Given the description of an element on the screen output the (x, y) to click on. 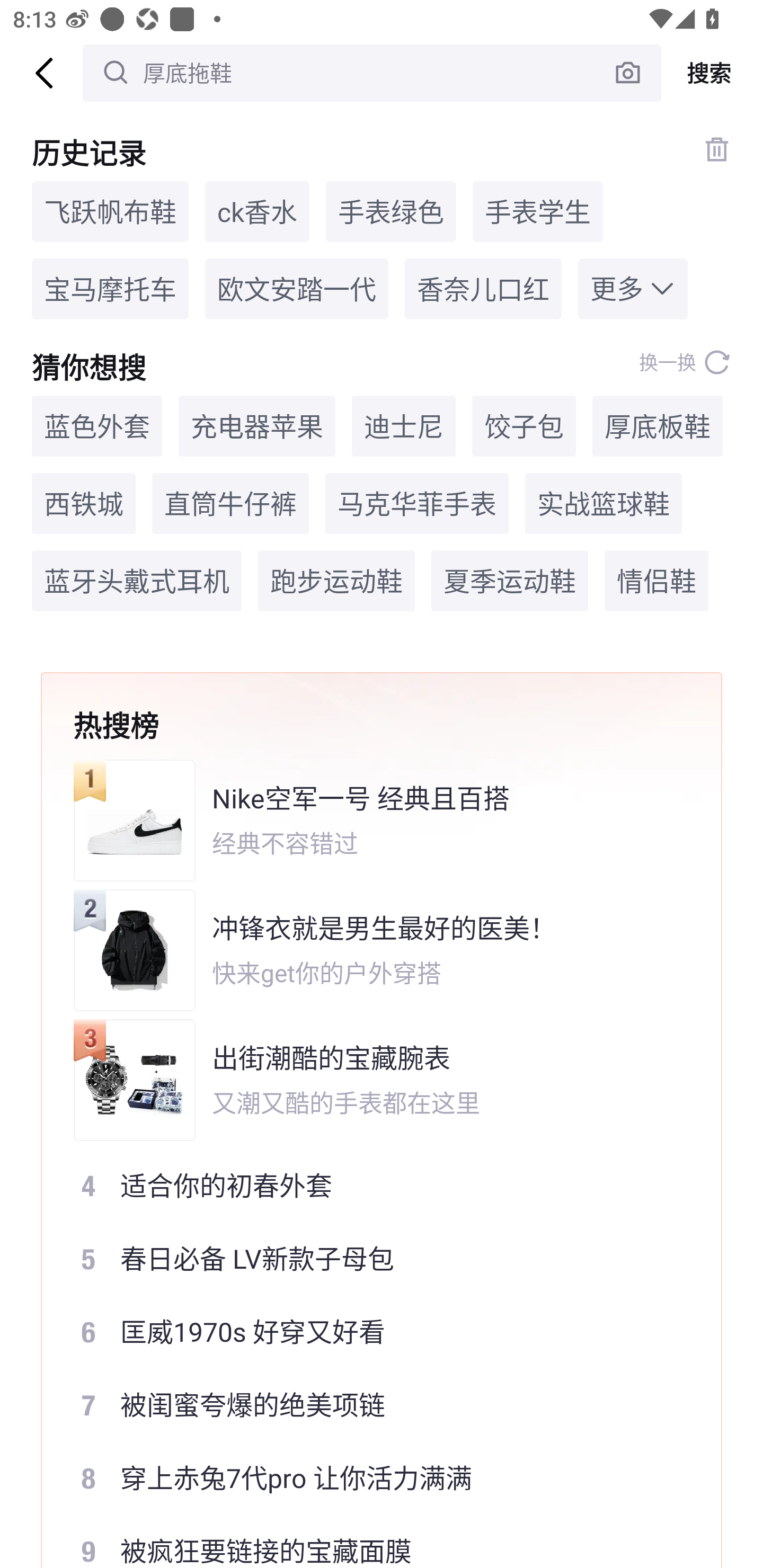
搜索 (712, 72)
厚底拖鞋 (371, 72)
飞跃帆布鞋 (110, 211)
ck香水 (257, 211)
手表绿色 (390, 211)
手表学生 (537, 211)
宝马摩托车 (110, 288)
欧文安踏一代 (296, 288)
香奈儿口红 (483, 288)
更多  (632, 288)
换一换 (684, 362)
蓝色外套 (96, 425)
充电器苹果 (256, 425)
迪士尼 (403, 425)
饺子包 (524, 425)
厚底板鞋 (657, 425)
西铁城 (83, 503)
直筒牛仔裤 (230, 503)
马克华菲手表 (416, 503)
实战篮球鞋 (603, 503)
蓝牙头戴式耳机 (136, 580)
跑步运动鞋 (336, 580)
夏季运动鞋 (509, 580)
情侣鞋 (656, 580)
Nike空军一号 经典且百搭 经典不容错过 (369, 819)
冲锋衣就是男生最好的医美！ 快来get你的户外穿搭 (369, 950)
出街潮酷的宝藏腕表 又潮又酷的手表都在这里 (369, 1080)
4 适合你的初春外套 (369, 1185)
5 春日必备 LV新款子母包 (369, 1258)
6 匡威1970s 好穿又好看 (369, 1331)
7 被闺蜜夸爆的绝美项链 (369, 1404)
8 穿上赤兔7代pro 让你活力满满 (369, 1477)
9 被疯狂要链接的宝藏面膜 (369, 1541)
